Given the description of an element on the screen output the (x, y) to click on. 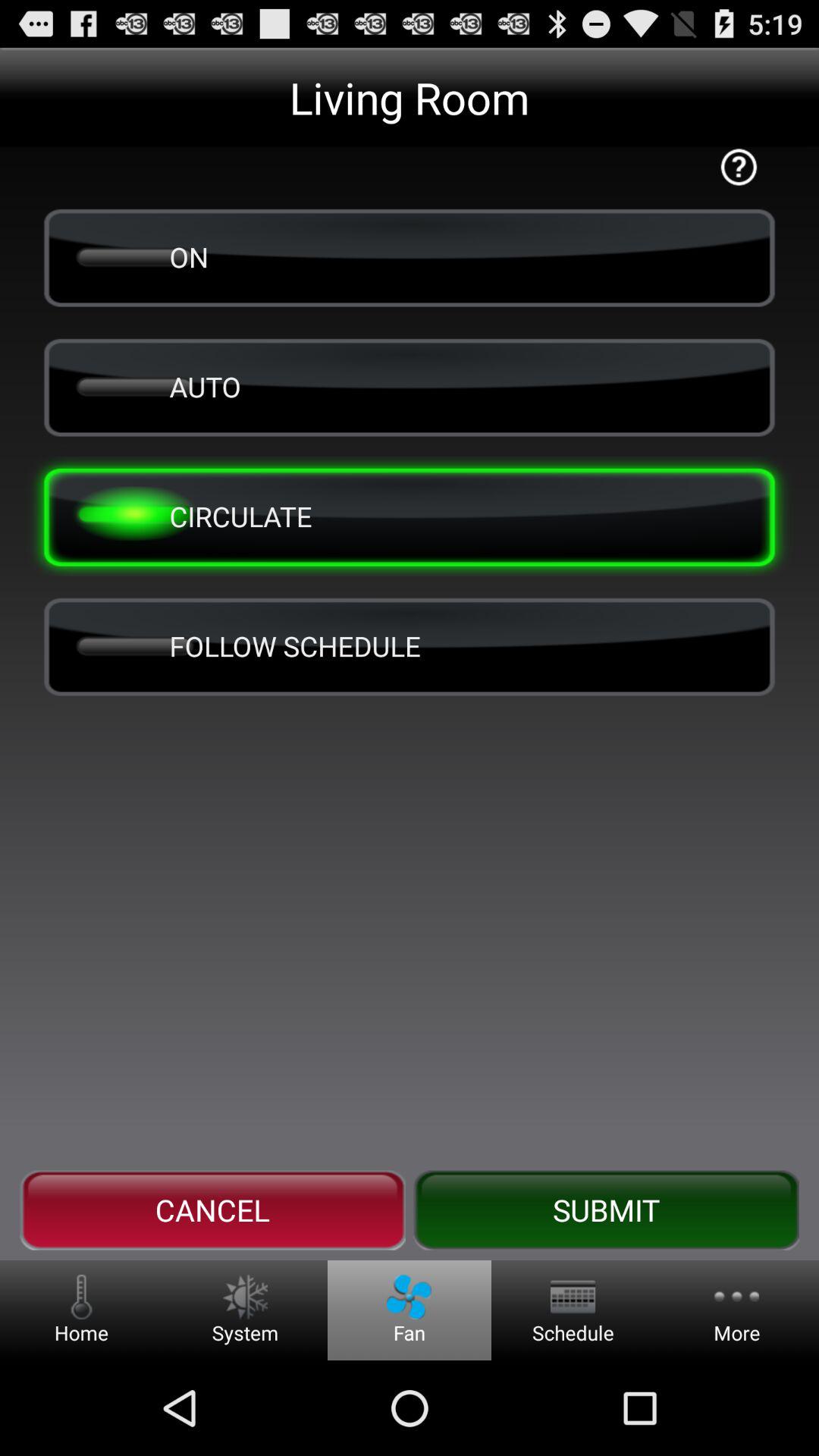
scroll until the submit icon (606, 1210)
